Given the description of an element on the screen output the (x, y) to click on. 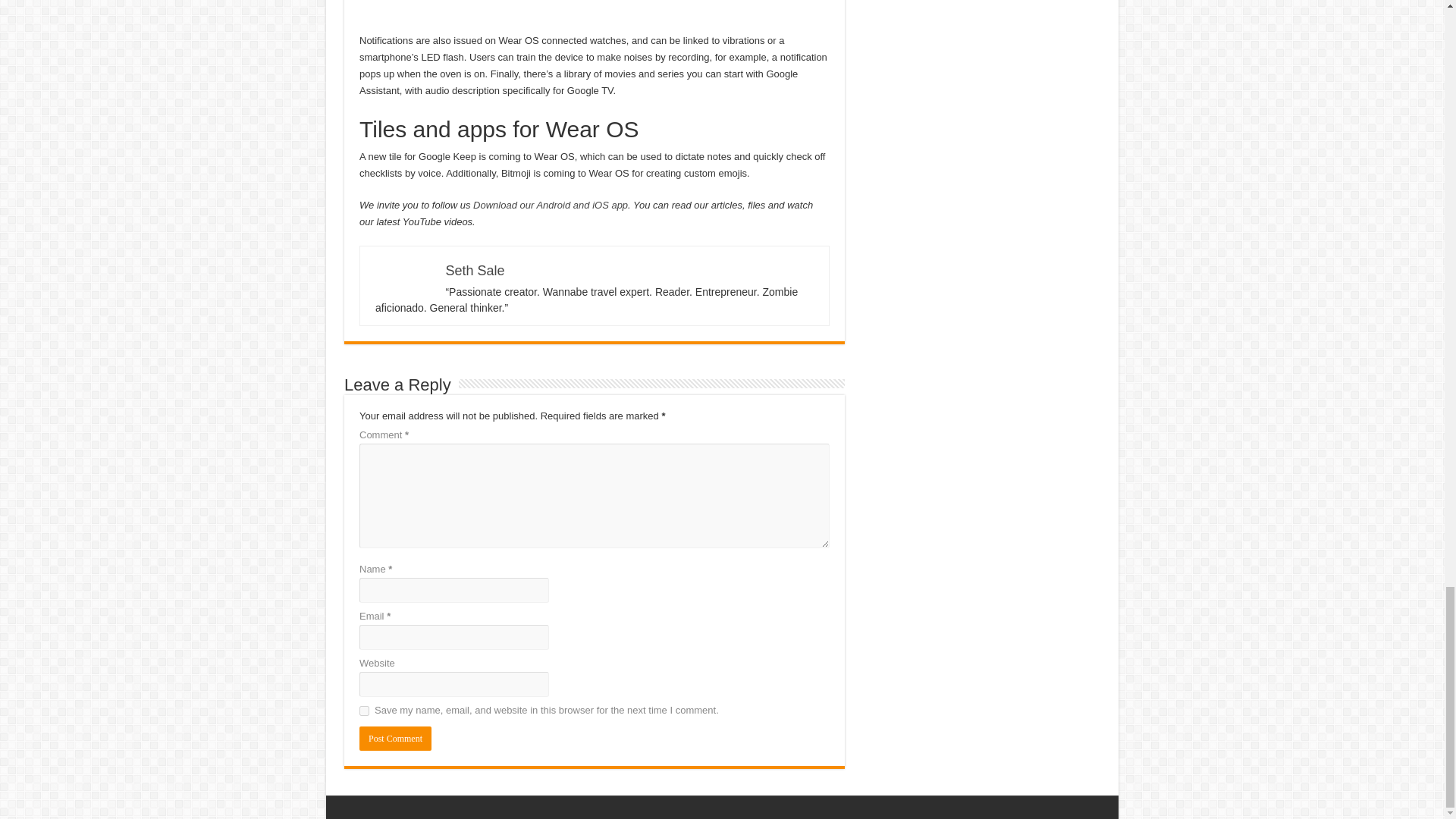
yes (364, 710)
Post Comment (394, 738)
Download our Android and iOS app (550, 204)
Seth Sale (474, 270)
Post Comment (394, 738)
